Given the description of an element on the screen output the (x, y) to click on. 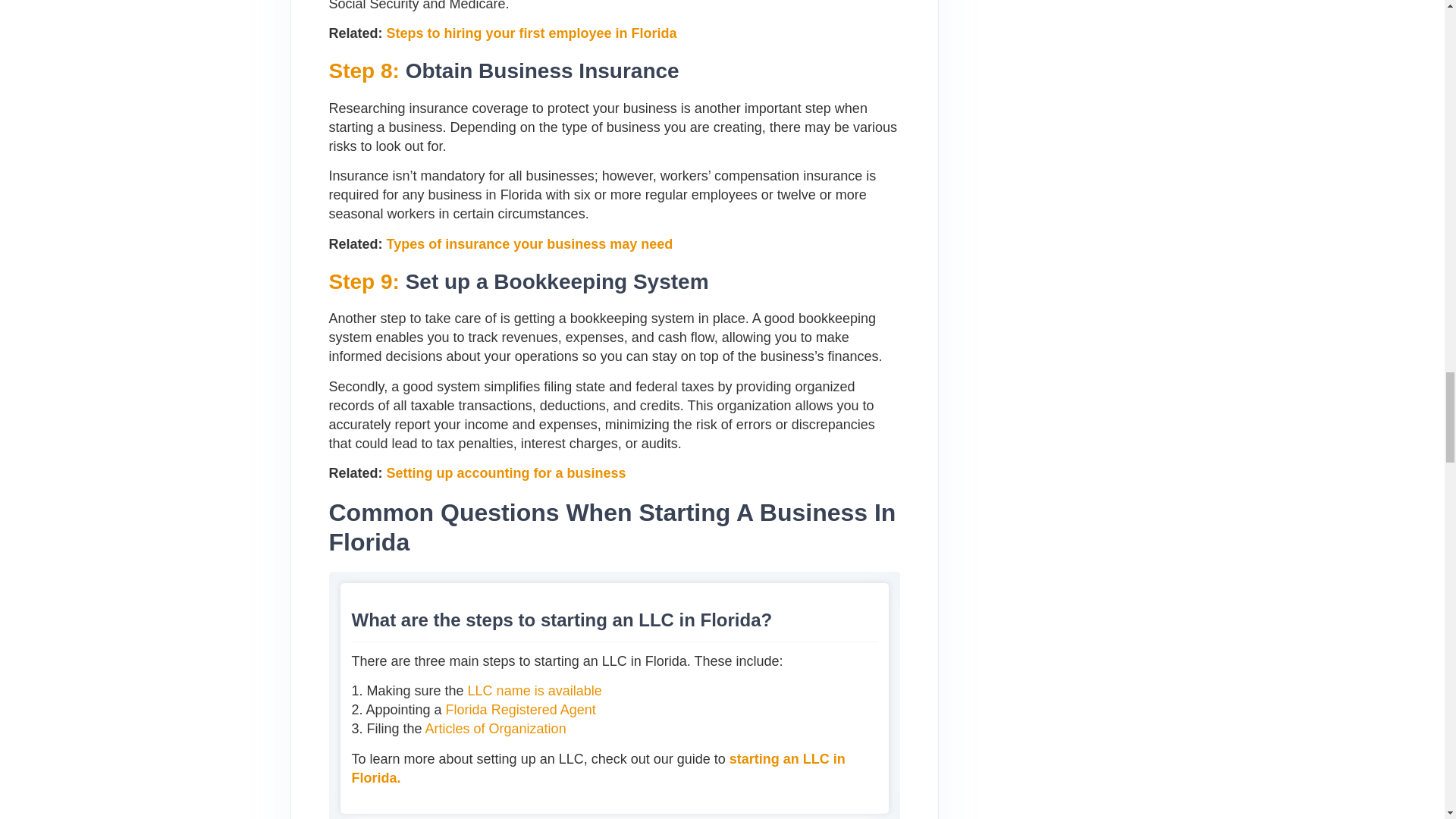
Steps to hiring your first employee in Florida (532, 32)
